Given the description of an element on the screen output the (x, y) to click on. 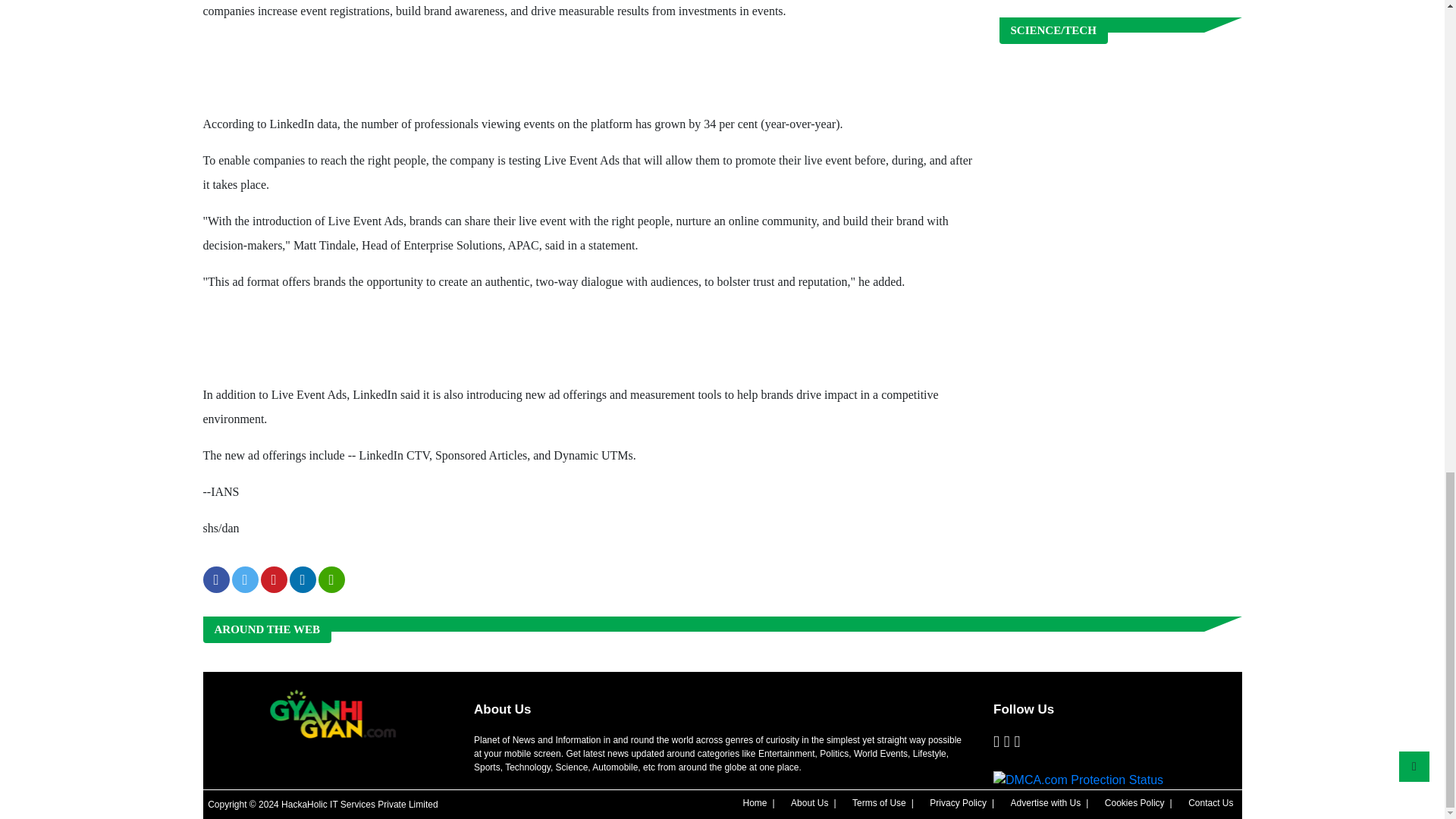
Instagram (1017, 742)
Twitter (1007, 742)
Facebook (995, 742)
DMCA.com Protection Status (1077, 780)
